Given the description of an element on the screen output the (x, y) to click on. 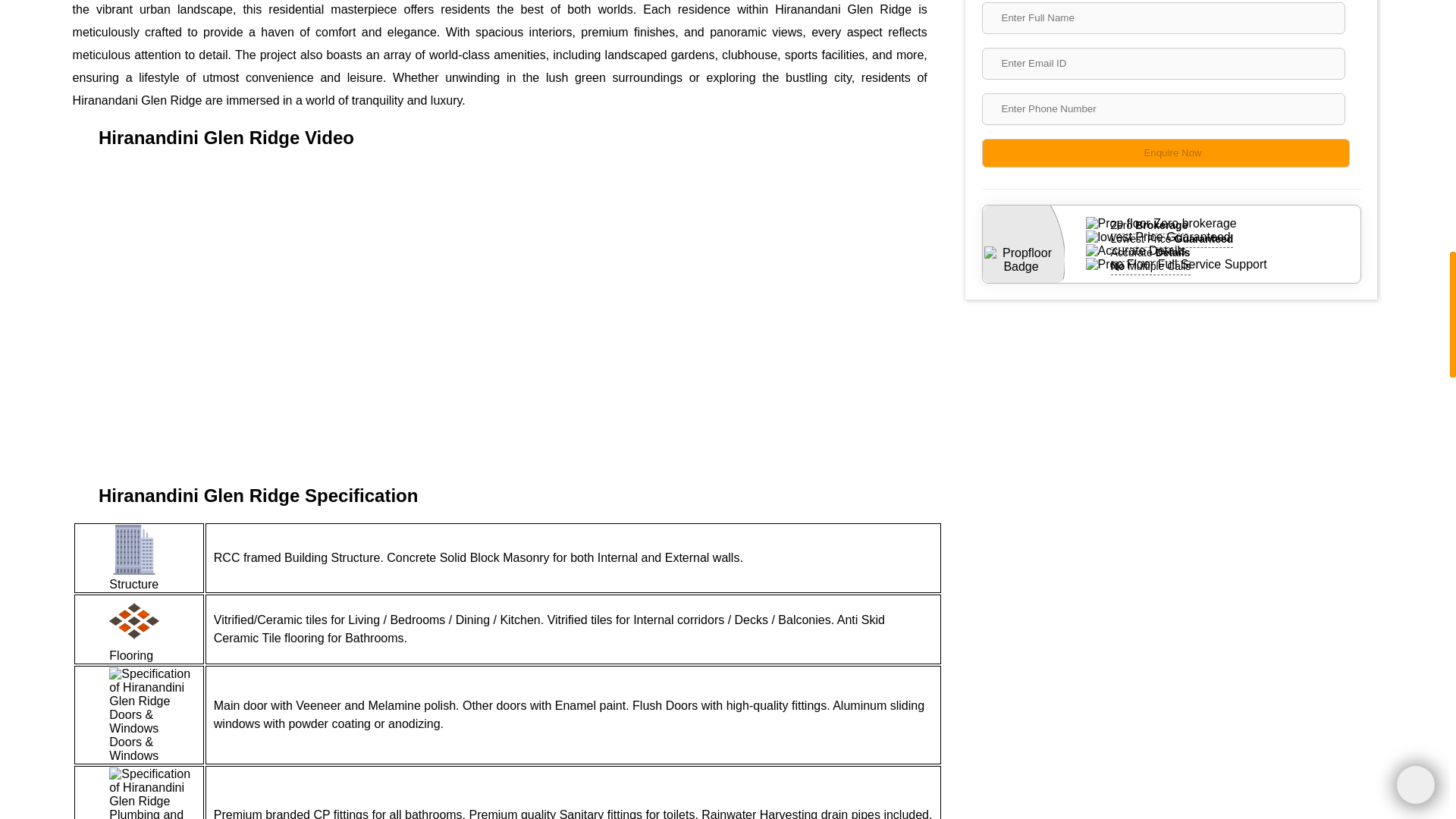
Enquire Now (1165, 152)
Enquire Now (1165, 152)
